Given the description of an element on the screen output the (x, y) to click on. 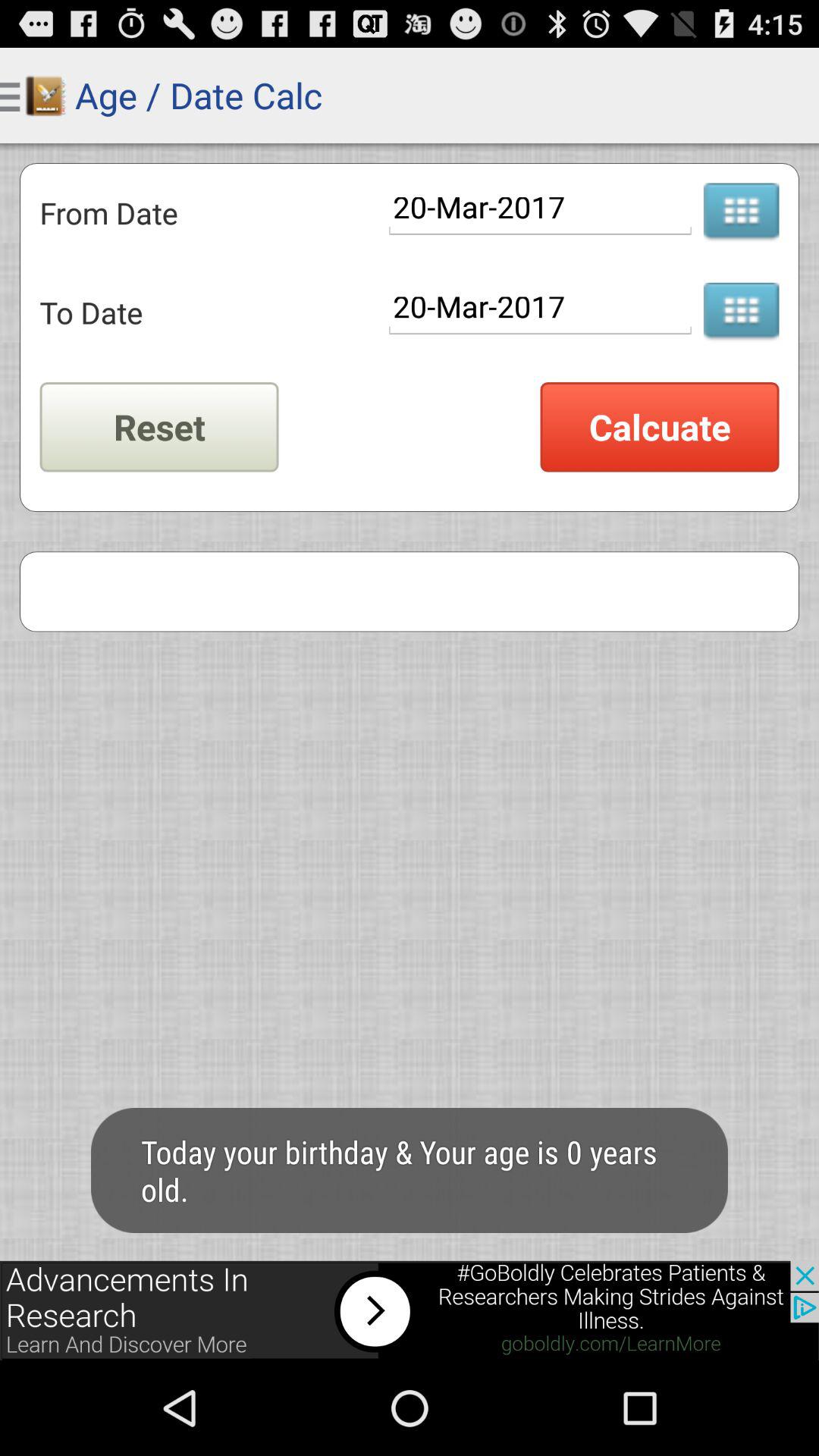
advertisement (409, 1310)
